Given the description of an element on the screen output the (x, y) to click on. 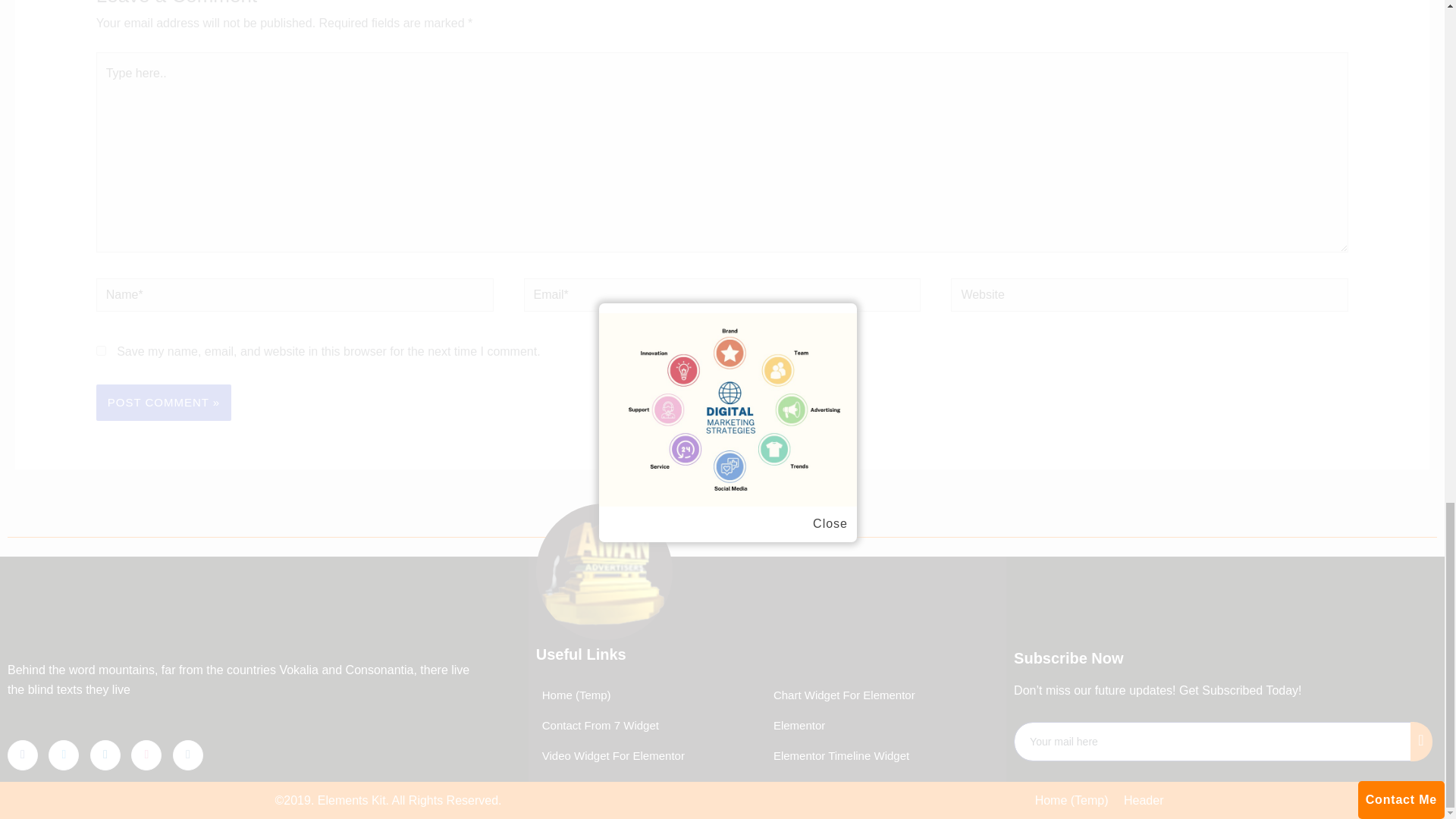
yes (101, 350)
Elementor Timeline Widget (837, 756)
Video Widget For Elementor (609, 756)
Elementor (796, 725)
Contact From 7 Widget (597, 725)
Chart Widget For Elementor (841, 695)
Header (1143, 800)
